Given the description of an element on the screen output the (x, y) to click on. 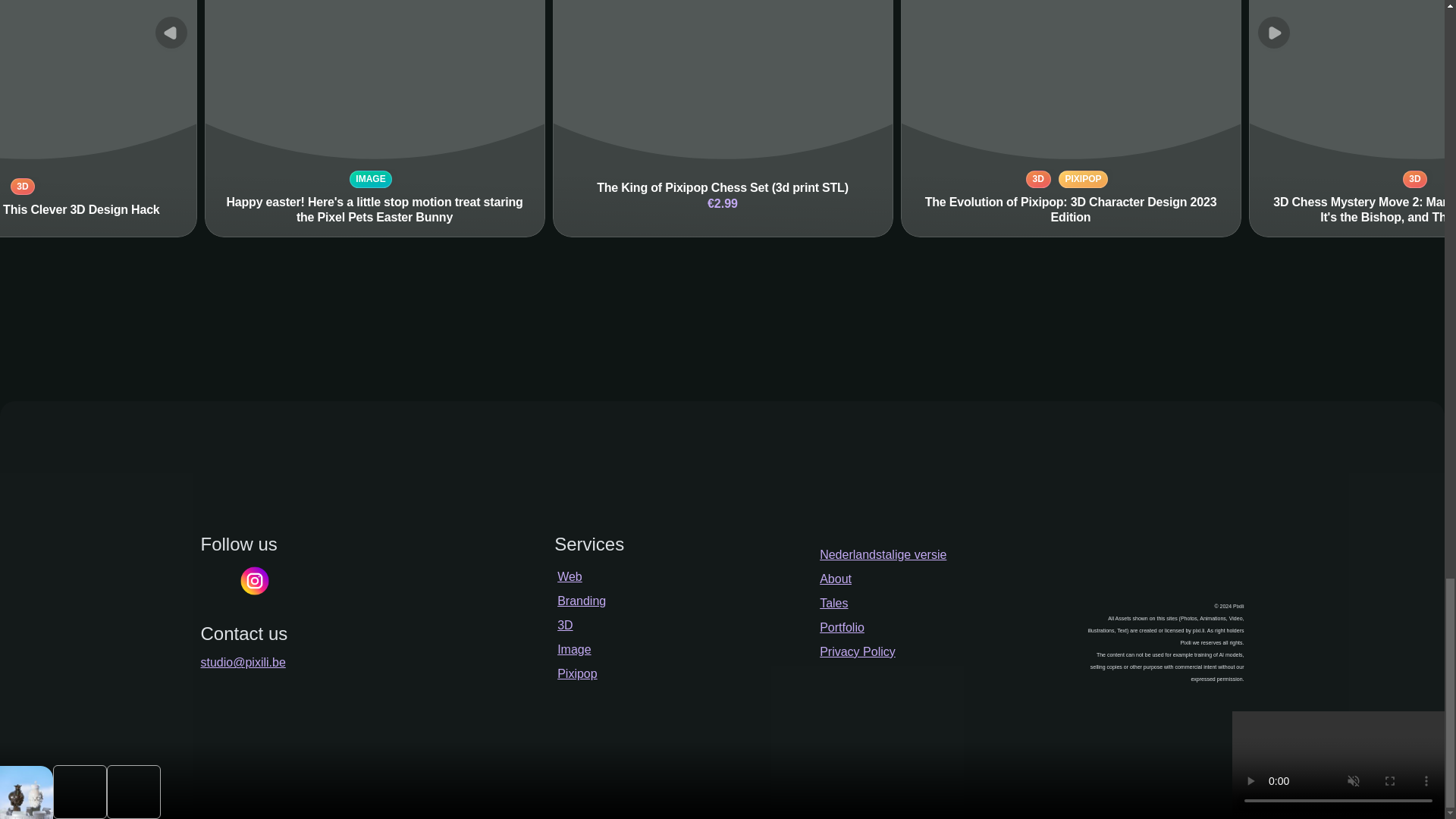
Previous (170, 32)
Web (569, 576)
Branding (581, 600)
Image (574, 649)
3D (22, 186)
3D (564, 625)
Pixipop (576, 673)
